Given the description of an element on the screen output the (x, y) to click on. 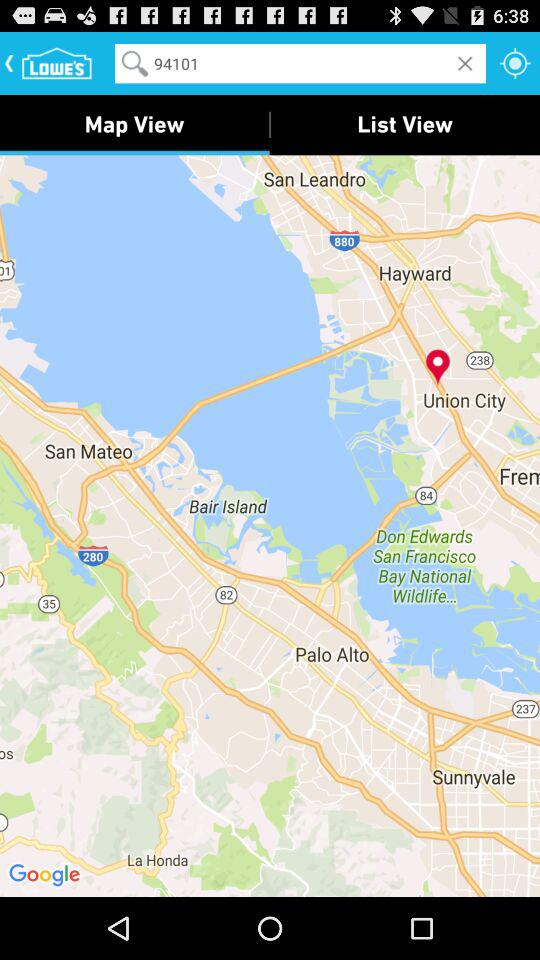
click the map view item (134, 124)
